Given the description of an element on the screen output the (x, y) to click on. 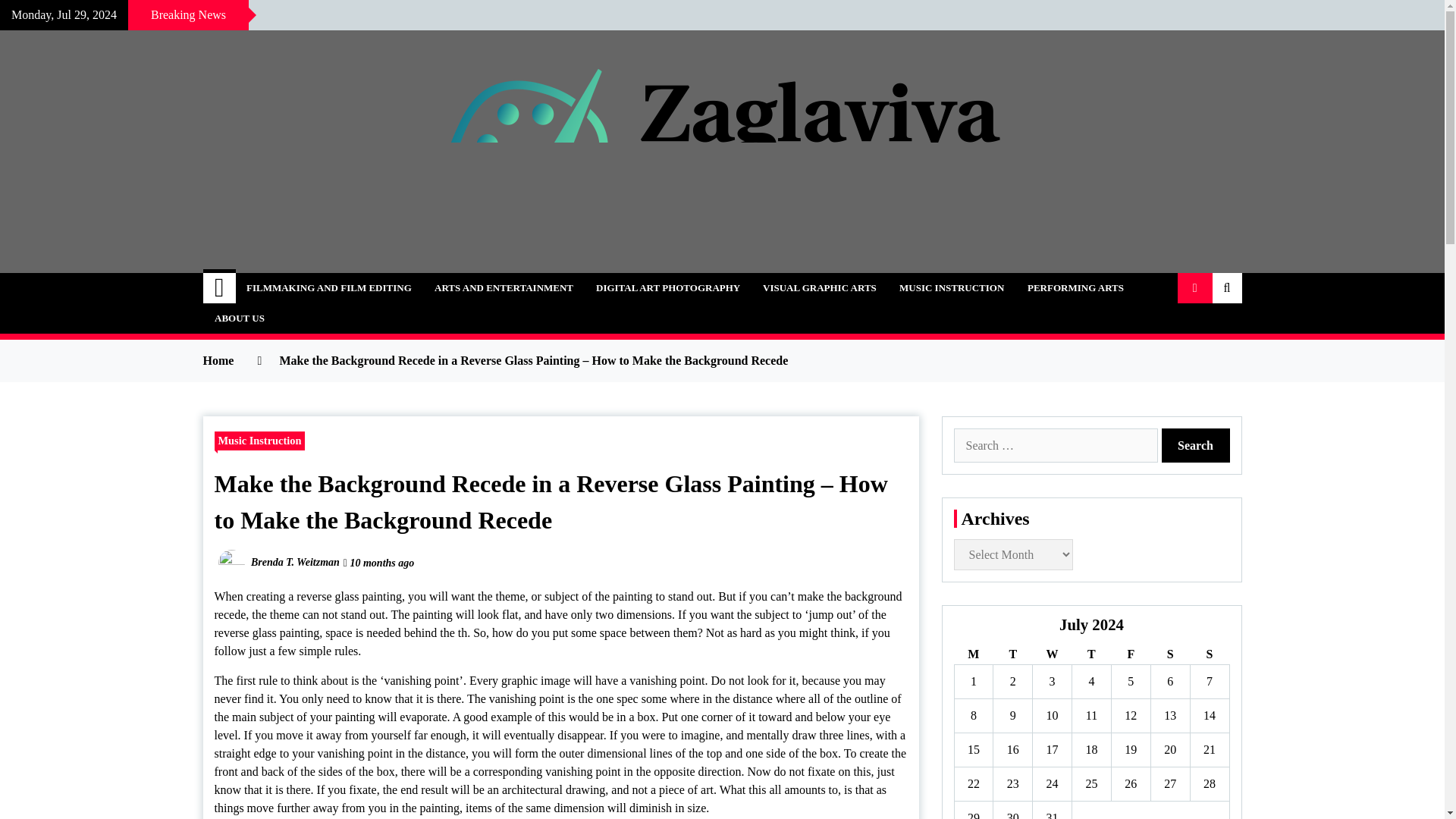
ARTS AND ENTERTAINMENT (504, 287)
Friday (1130, 654)
Sunday (1208, 654)
Monday (972, 654)
Search (1195, 445)
Home (219, 287)
Thursday (1091, 654)
Tuesday (1012, 654)
PERFORMING ARTS (1075, 287)
Wednesday (1051, 654)
DIGITAL ART PHOTOGRAPHY (668, 287)
Search (1195, 445)
Saturday (1169, 654)
FILMMAKING AND FILM EDITING (328, 287)
VISUAL GRAPHIC ARTS (819, 287)
